Given the description of an element on the screen output the (x, y) to click on. 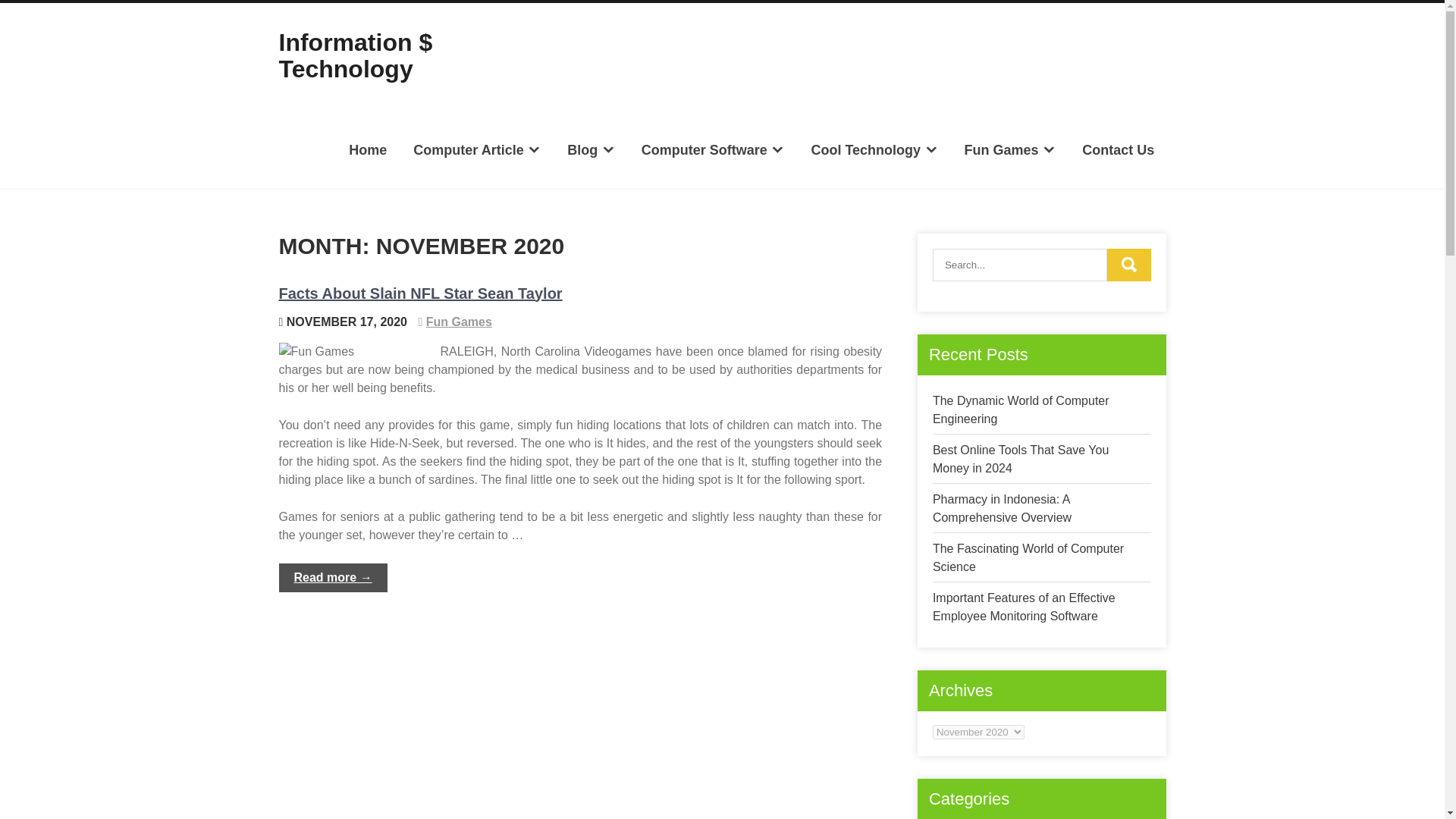
Fun Games (1009, 149)
Cool Technology (874, 149)
Home (367, 149)
Contact Us (1118, 149)
Search (1128, 264)
Computer Article (476, 149)
Facts About Slain NFL Star Sean Taylor (420, 293)
Search (1128, 264)
Computer Software (713, 149)
Blog (591, 149)
